Given the description of an element on the screen output the (x, y) to click on. 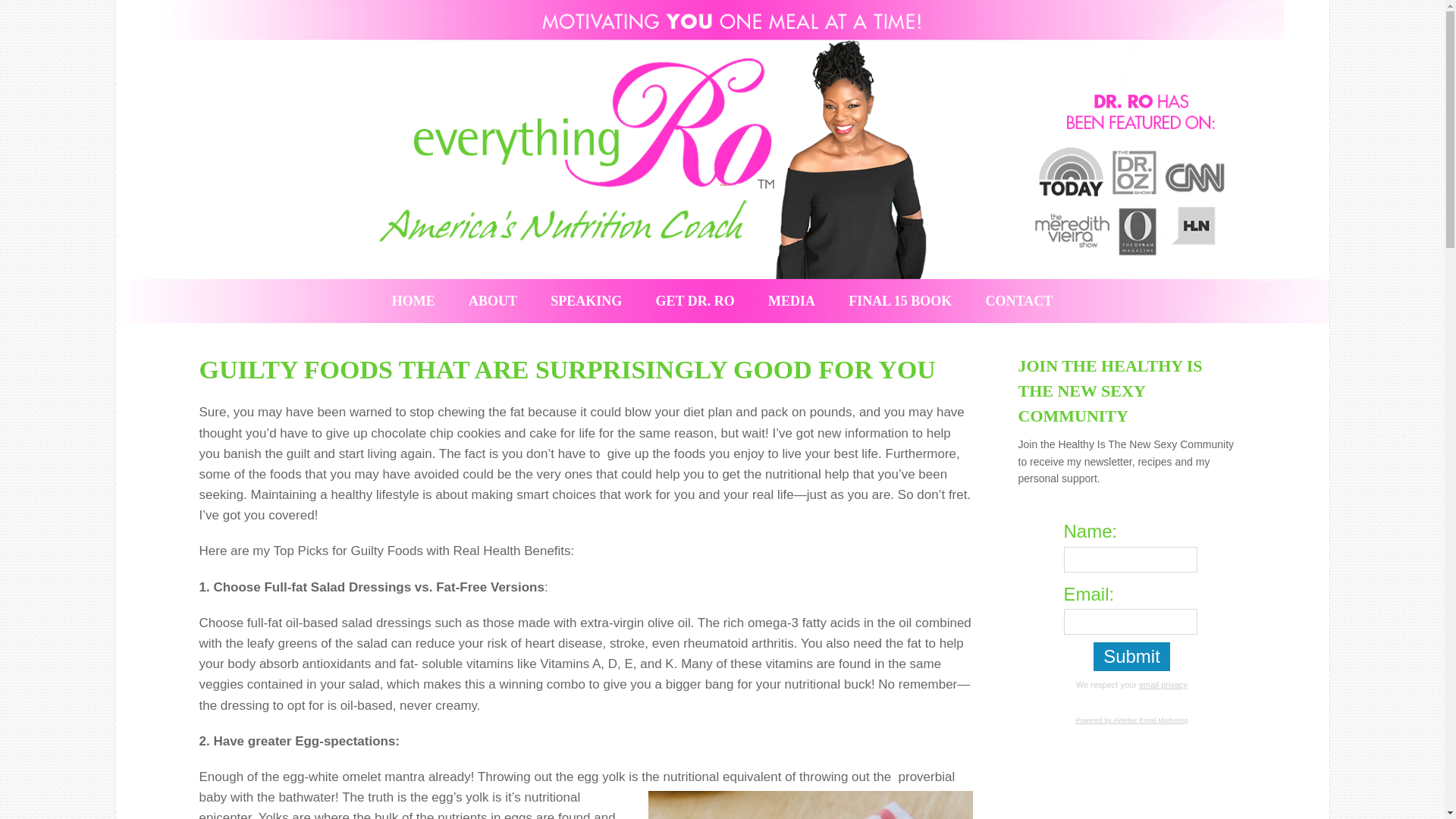
HOME (413, 300)
SPEAKING (586, 300)
Submit (1131, 656)
AWeber Email Marketing (1131, 719)
Submit (1131, 656)
email privacy (1163, 684)
FINAL 15 BOOK (899, 300)
GET DR. RO (694, 300)
Powered by AWeber Email Marketing (1131, 719)
MEDIA (790, 300)
CONTACT (1019, 300)
ABOUT (492, 300)
Privacy Policy (1163, 684)
